Given the description of an element on the screen output the (x, y) to click on. 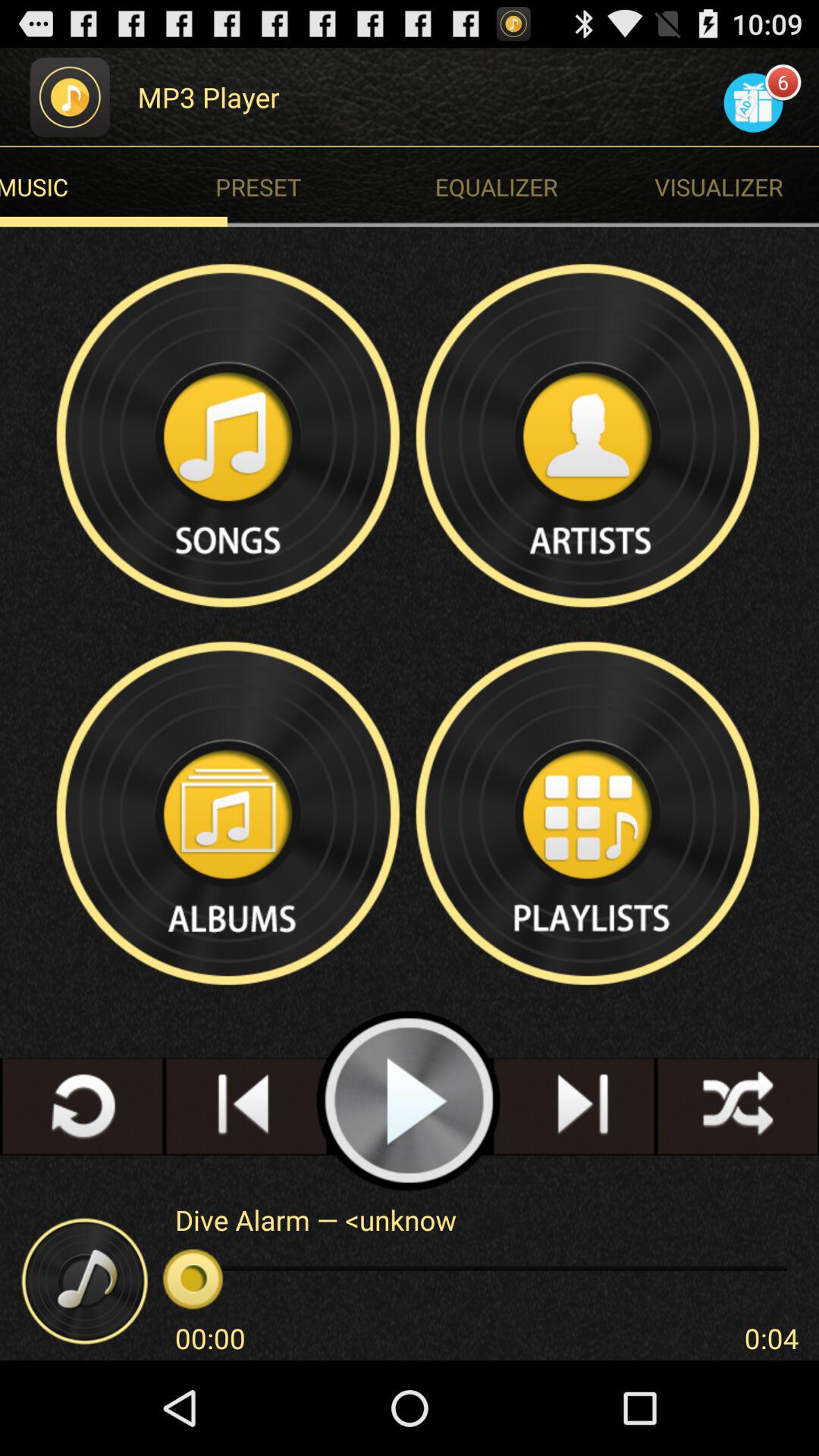
open playlist (588, 813)
